Given the description of an element on the screen output the (x, y) to click on. 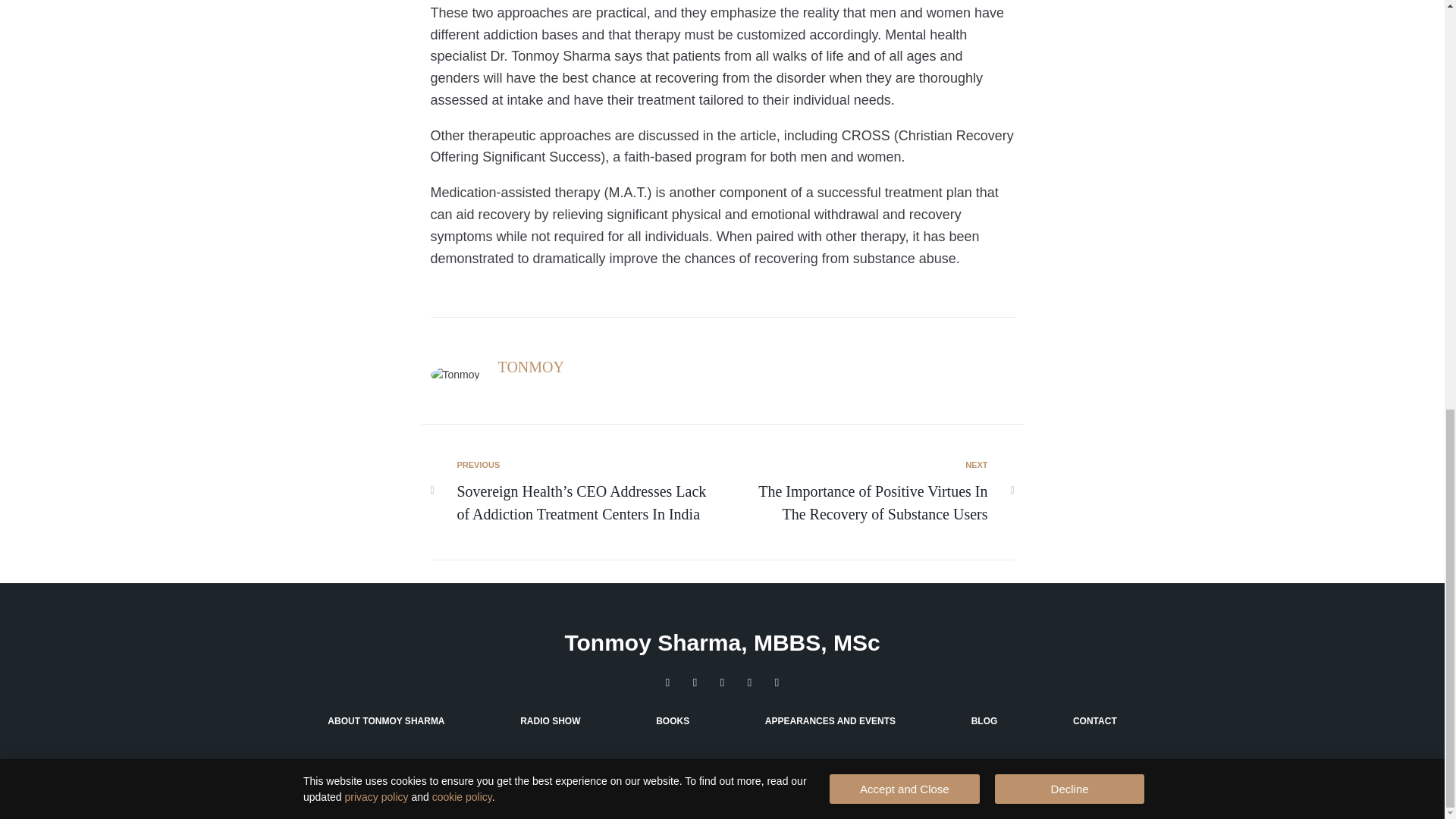
Tonmoy Sharma, MBBS, MSc (721, 642)
TONMOY (530, 366)
